Given the description of an element on the screen output the (x, y) to click on. 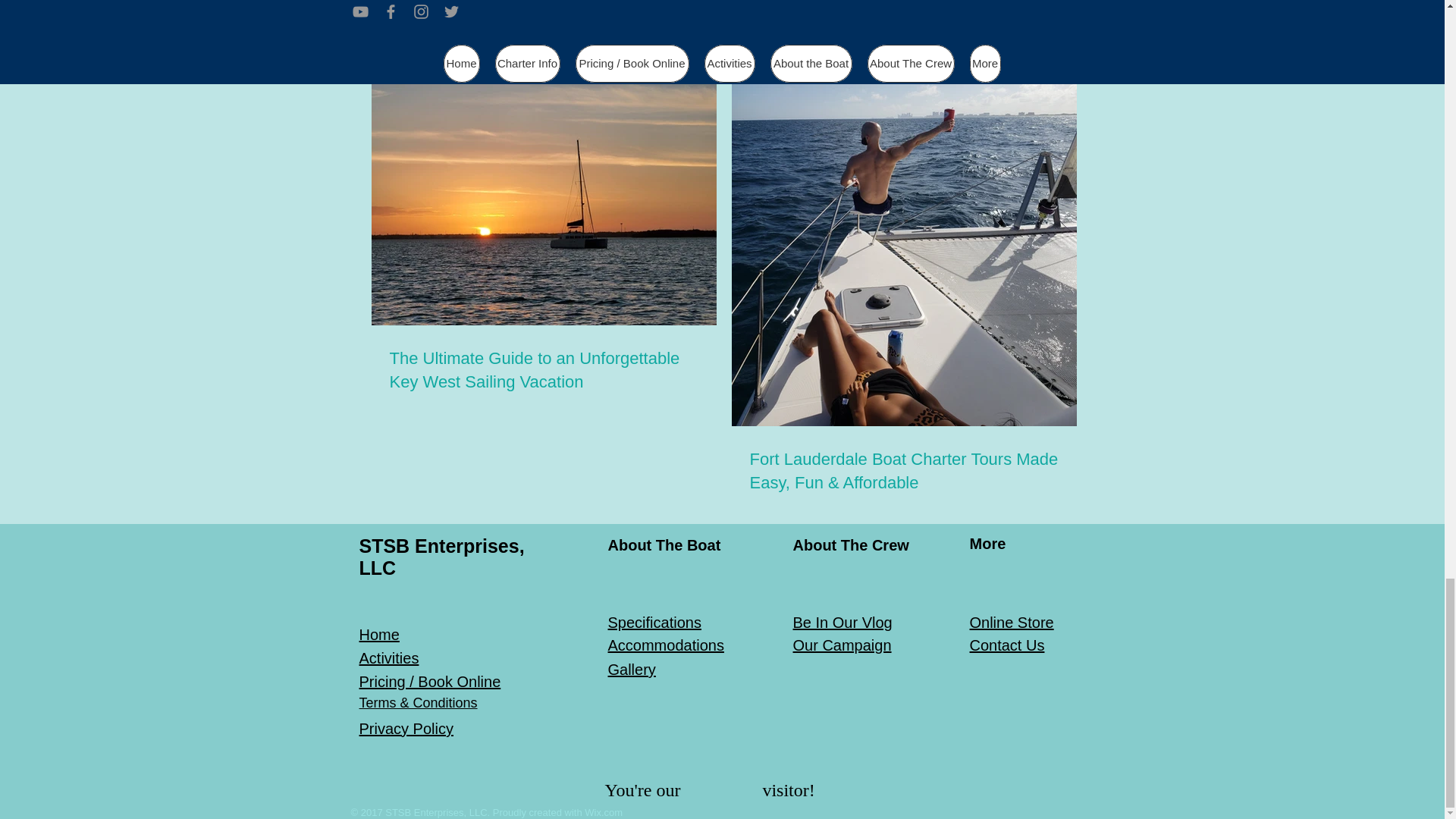
Specifications (654, 622)
Accommodations (665, 645)
Home (378, 634)
Be In Our Vlog (842, 622)
Activities (389, 658)
